Given the description of an element on the screen output the (x, y) to click on. 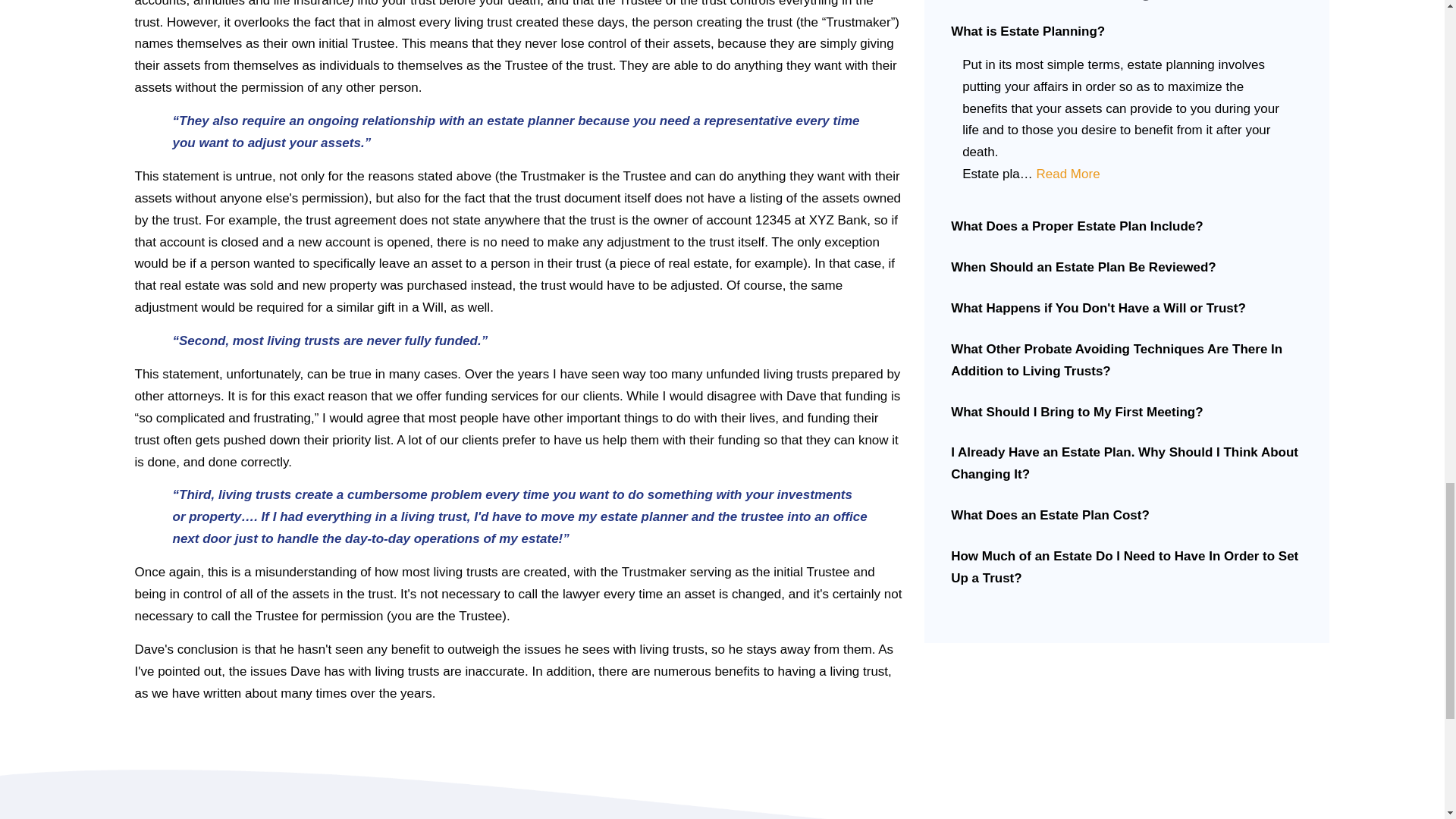
Click for more What Is Estate Planning? information (1067, 173)
